Given the description of an element on the screen output the (x, y) to click on. 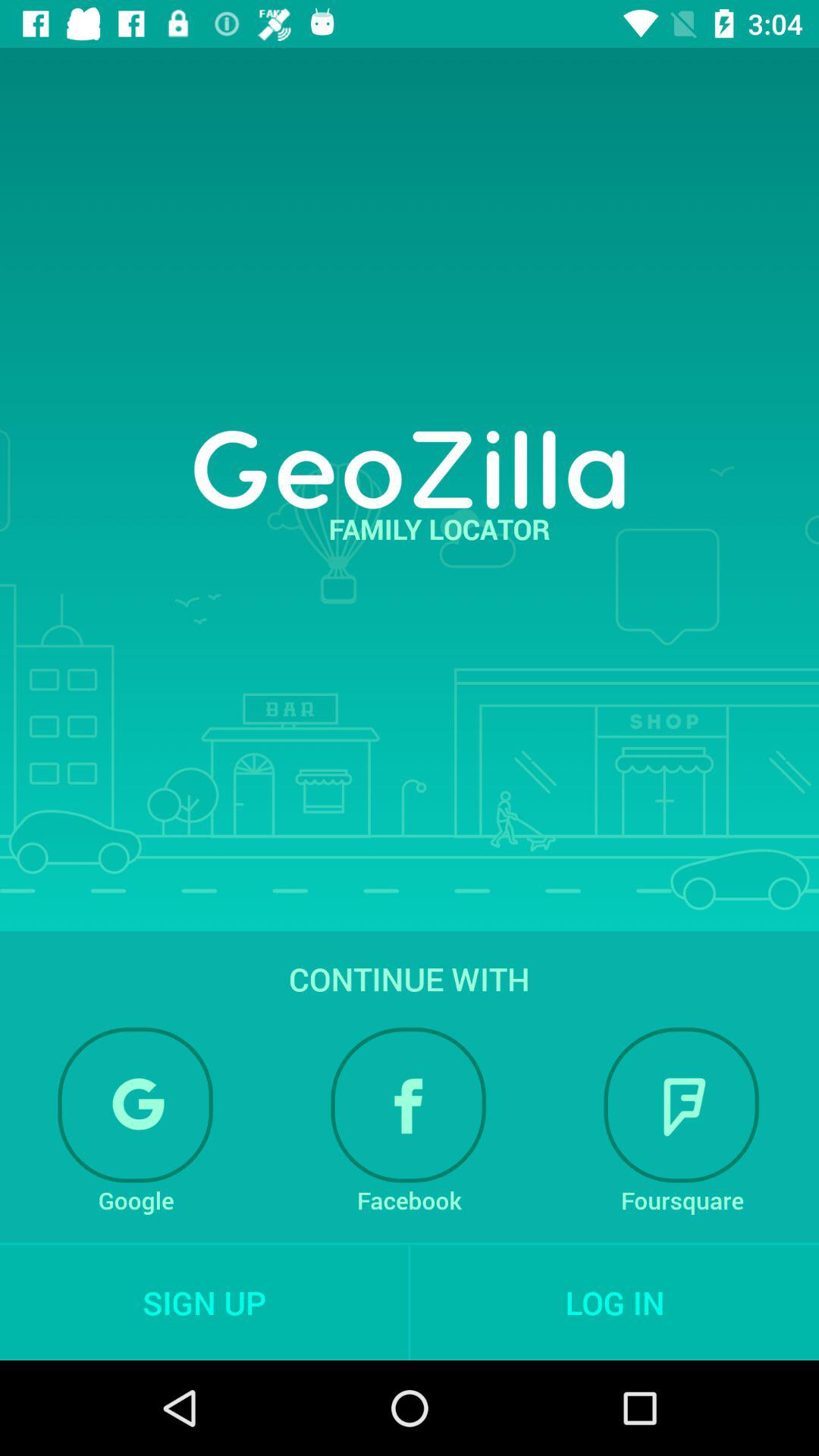
select the sign up item (204, 1302)
